Given the description of an element on the screen output the (x, y) to click on. 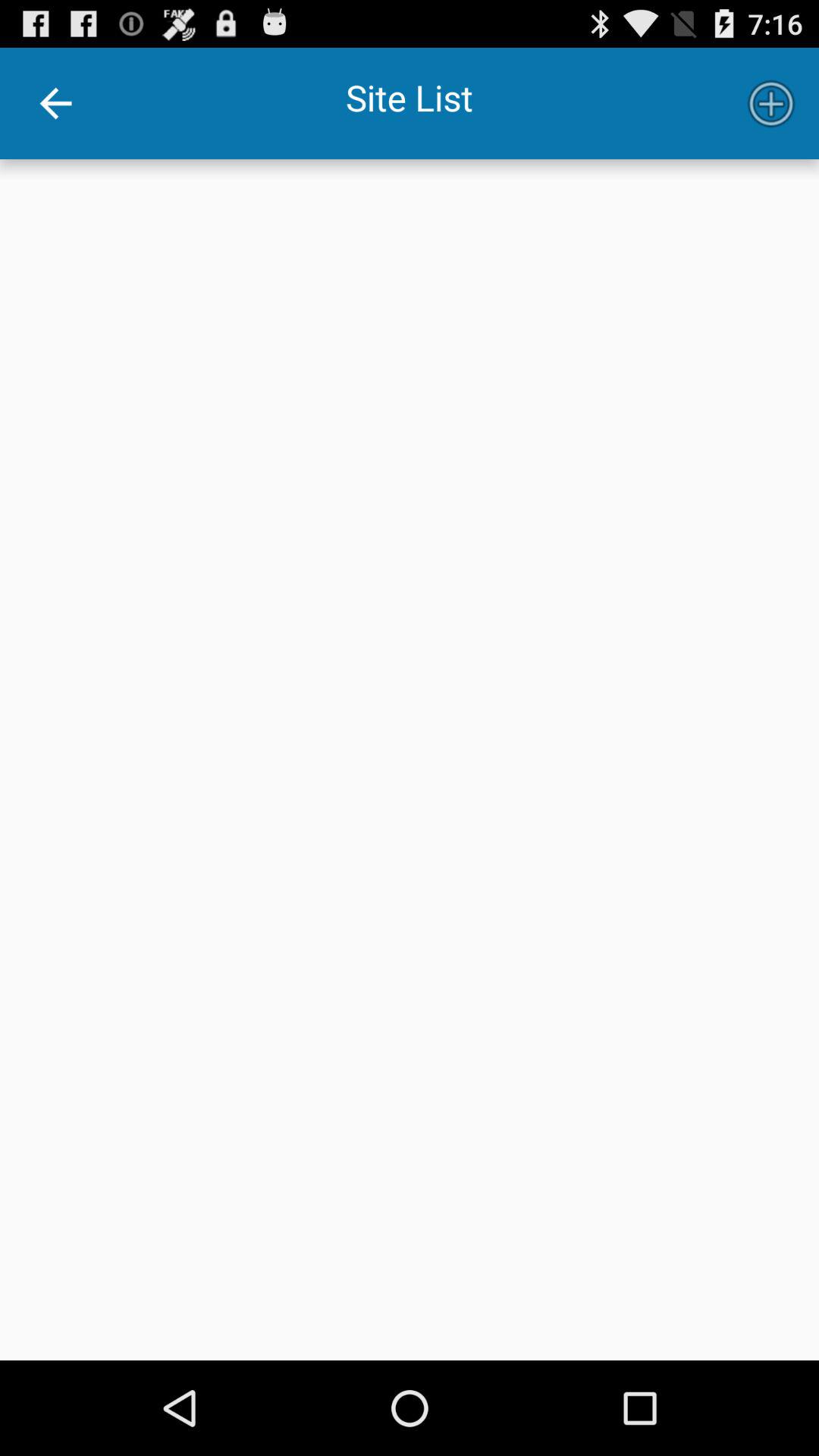
open the icon to the right of site list icon (771, 103)
